Given the description of an element on the screen output the (x, y) to click on. 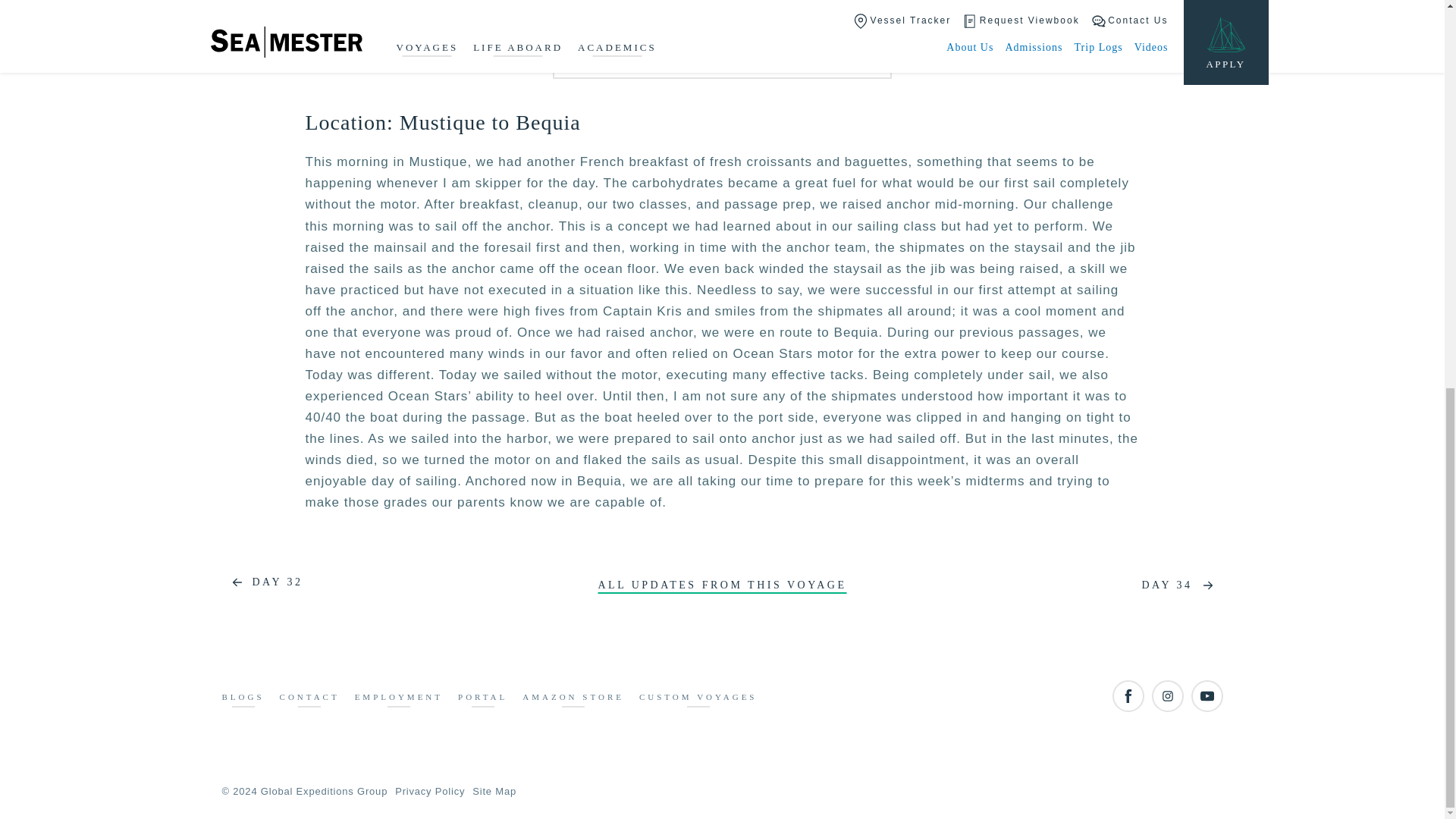
facebook (1127, 695)
DAY 32 (261, 582)
DAY 34 (1182, 585)
DOWNLOAD PHOTOS FROM THIS TRIP LOG (722, 55)
instagram (1166, 695)
ALL UPDATES FROM THIS VOYAGE (720, 585)
youtube (1207, 695)
